Given the description of an element on the screen output the (x, y) to click on. 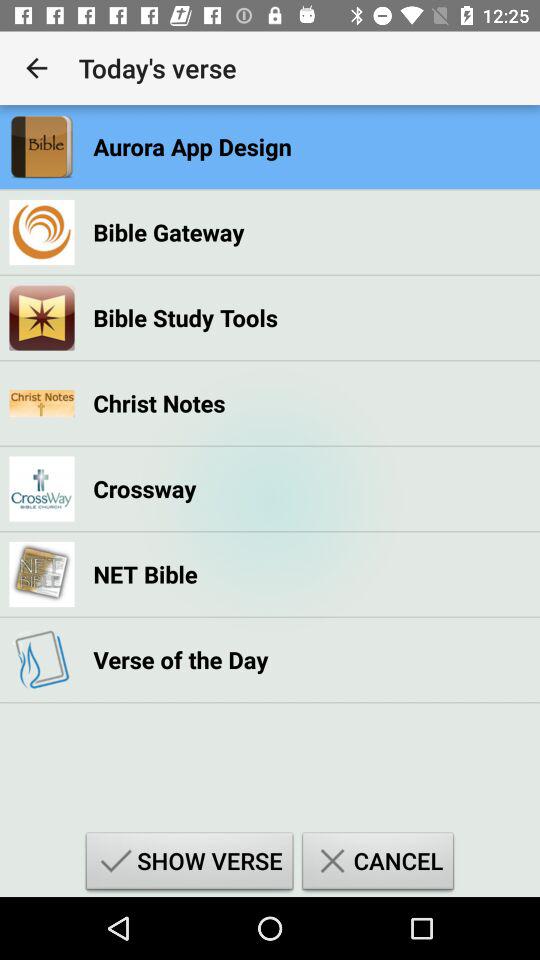
launch icon above the show verse item (180, 659)
